Given the description of an element on the screen output the (x, y) to click on. 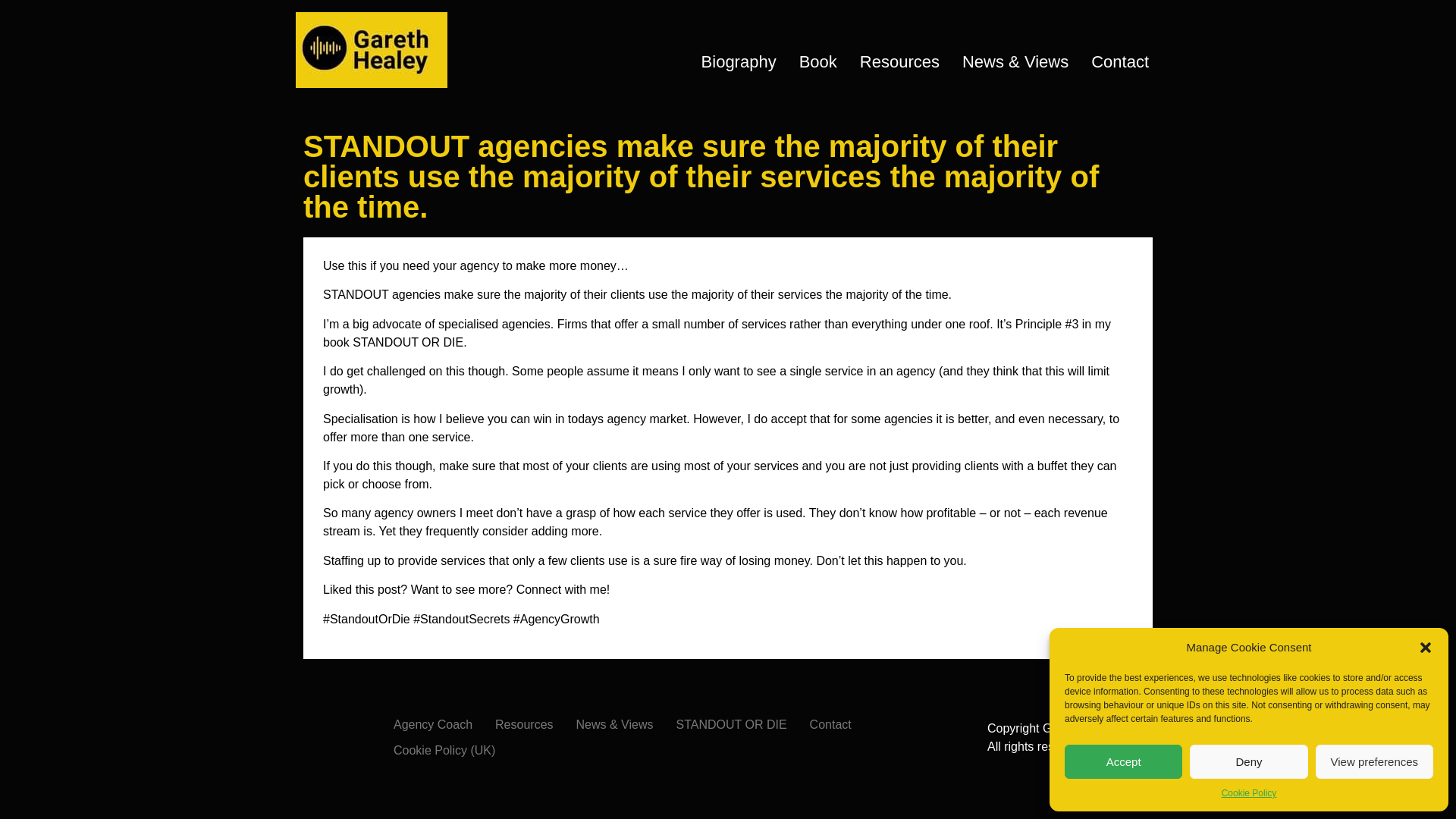
Biography (738, 61)
Resources (523, 724)
Resources (899, 61)
Contact (1120, 61)
STANDOUT OR DIE (731, 724)
Book (817, 61)
Agency Coach (432, 724)
Contact (830, 724)
